Given the description of an element on the screen output the (x, y) to click on. 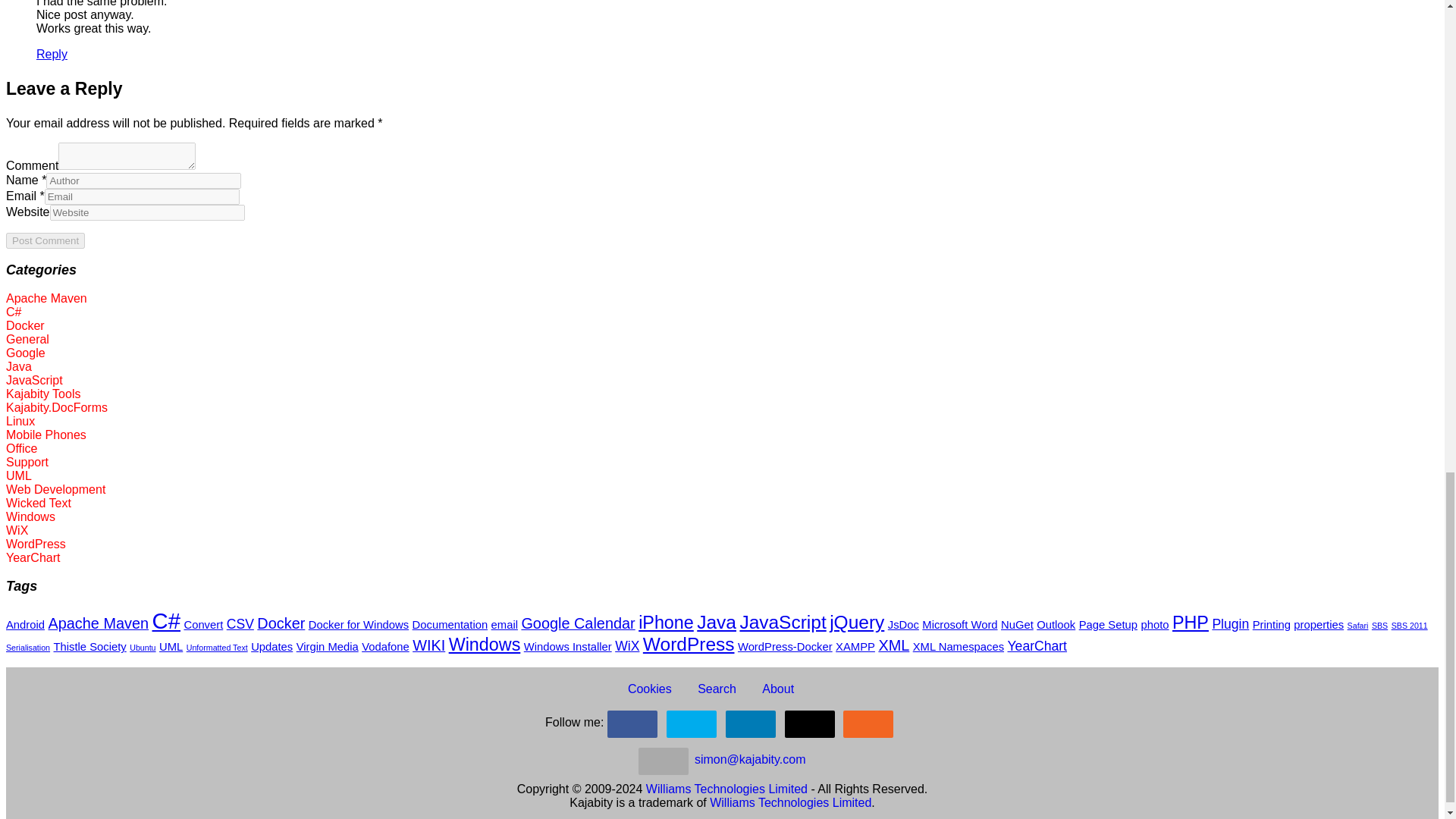
Post Comment (44, 240)
